Given the description of an element on the screen output the (x, y) to click on. 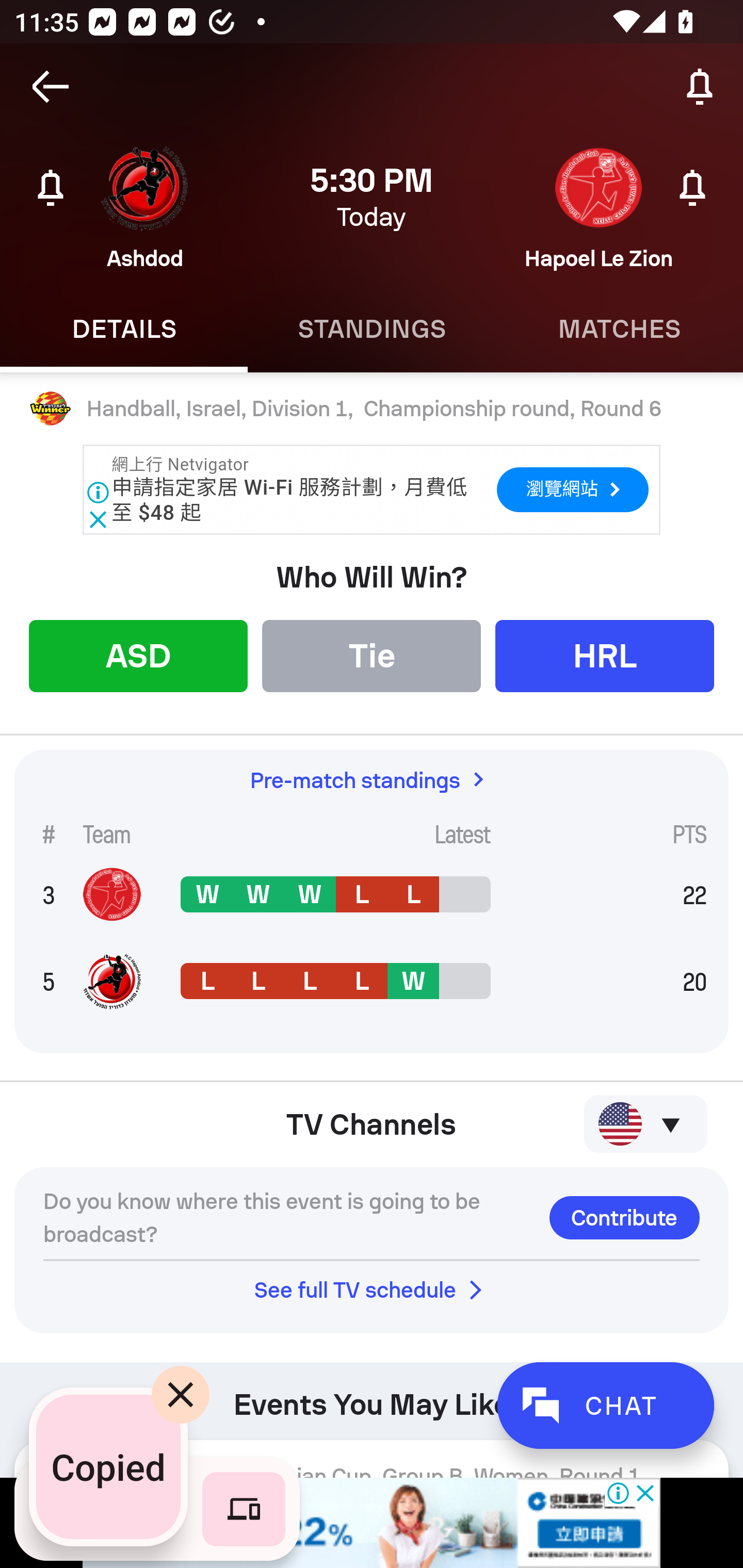
Navigate up (50, 86)
Standings STANDINGS (371, 329)
Matches MATCHES (619, 329)
網上行 Netvigator (180, 464)
瀏覽網站 (572, 488)
ASD (137, 655)
Tie (371, 655)
HRL (604, 655)
Contribute (624, 1217)
See full TV schedule (371, 1289)
CHAT (605, 1405)
Advertisement (371, 1522)
